Given the description of an element on the screen output the (x, y) to click on. 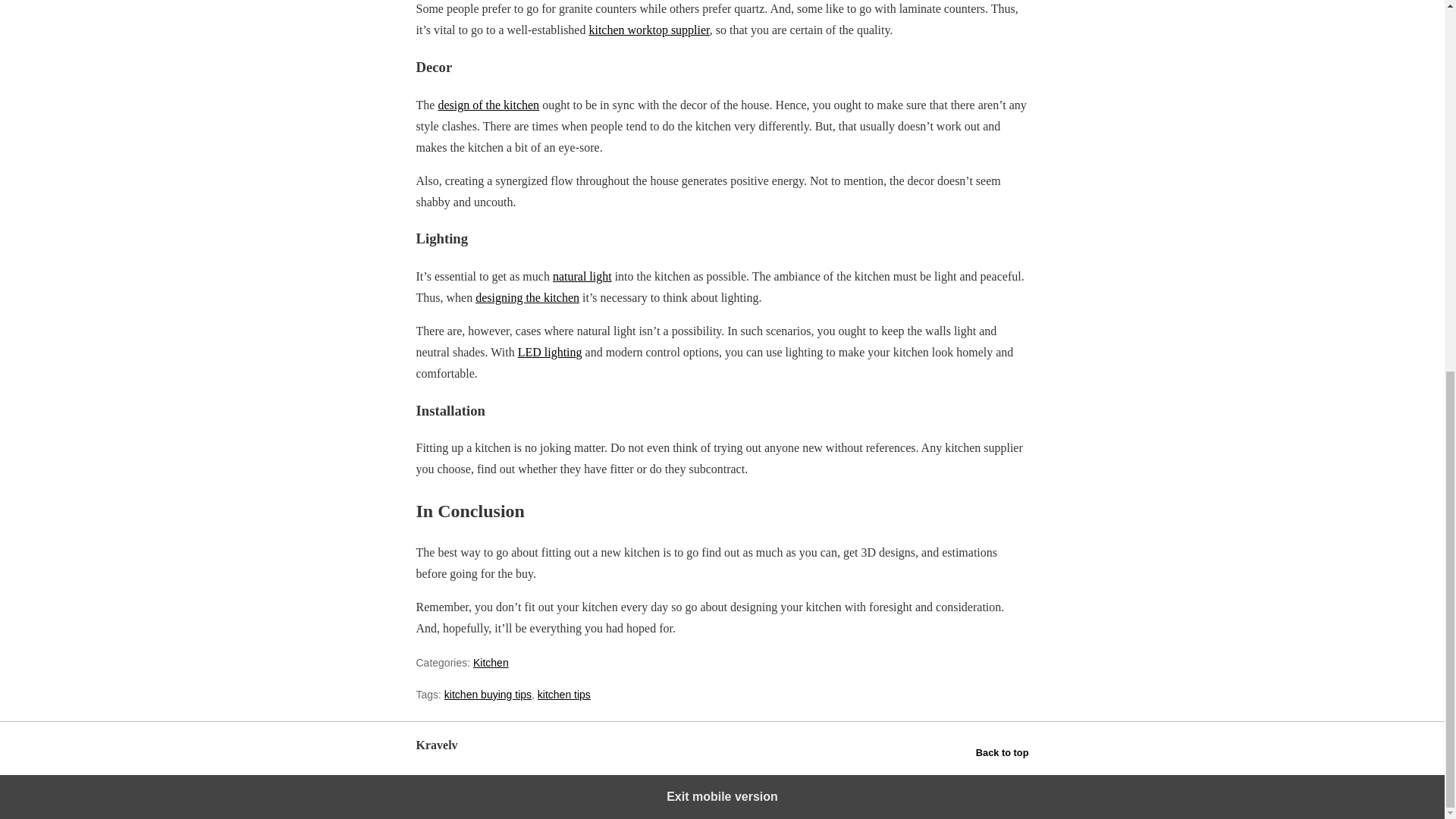
LED lighting (550, 351)
designing the kitchen (527, 297)
design of the kitchen (488, 104)
Back to top (1002, 752)
kitchen tips (564, 694)
Kitchen (490, 662)
kitchen buying tips (487, 694)
natural light (582, 276)
kitchen worktop supplier (648, 29)
